Given the description of an element on the screen output the (x, y) to click on. 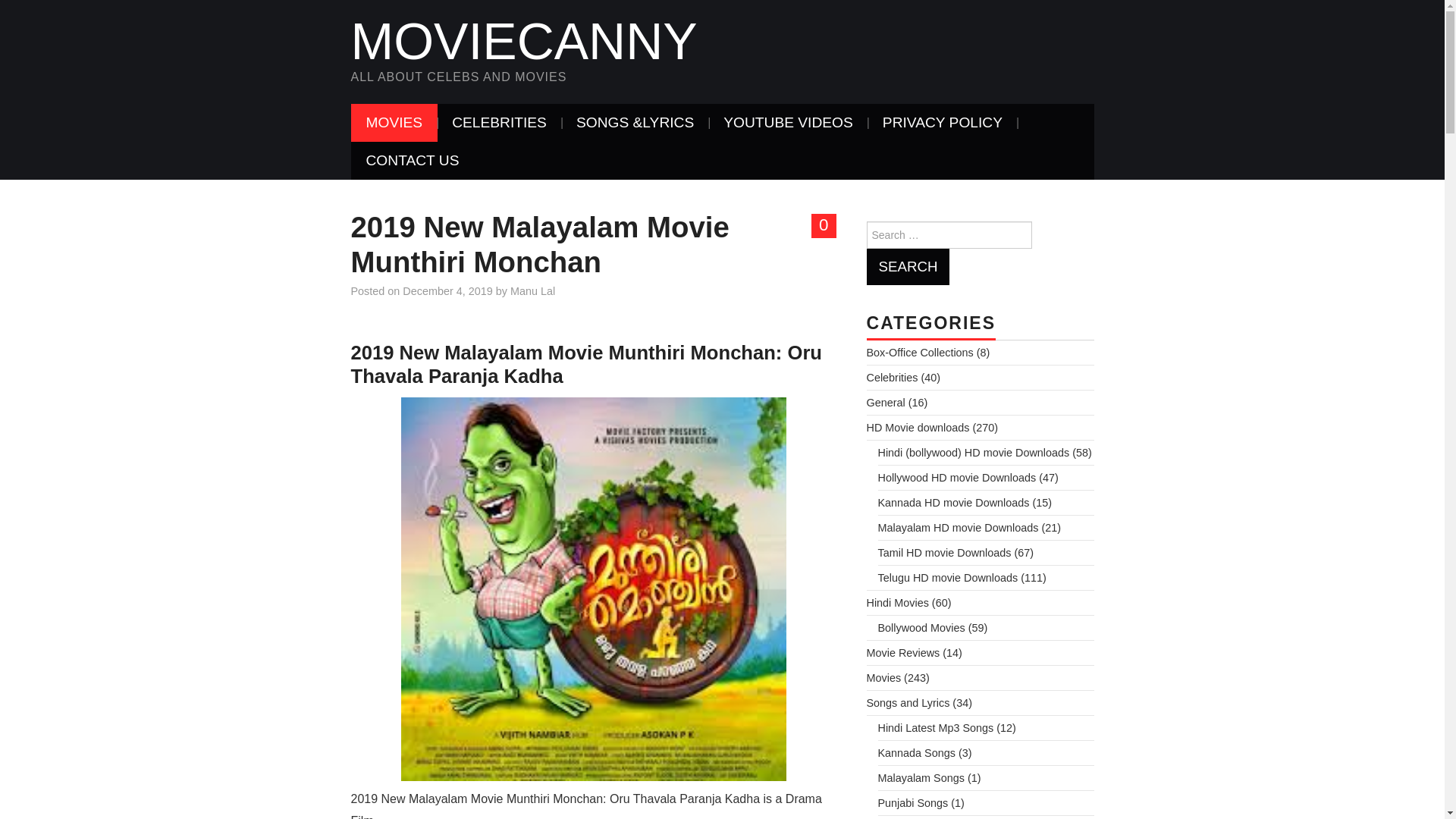
Kannada HD movie Downloads (953, 502)
PRIVACY POLICY (942, 122)
YOUTUBE VIDEOS (787, 122)
Telugu HD movie Downloads (947, 577)
Kannada Songs (916, 752)
Hindi Latest Mp3 Songs (935, 727)
Manu Lal (532, 291)
CELEBRITIES (499, 122)
HD Movie downloads (917, 427)
Box-Office Collections (919, 352)
CONTACT US (412, 160)
Search (907, 266)
Search for: (948, 234)
Hindi Movies (897, 603)
PRIVACY POLICY (942, 122)
